Given the description of an element on the screen output the (x, y) to click on. 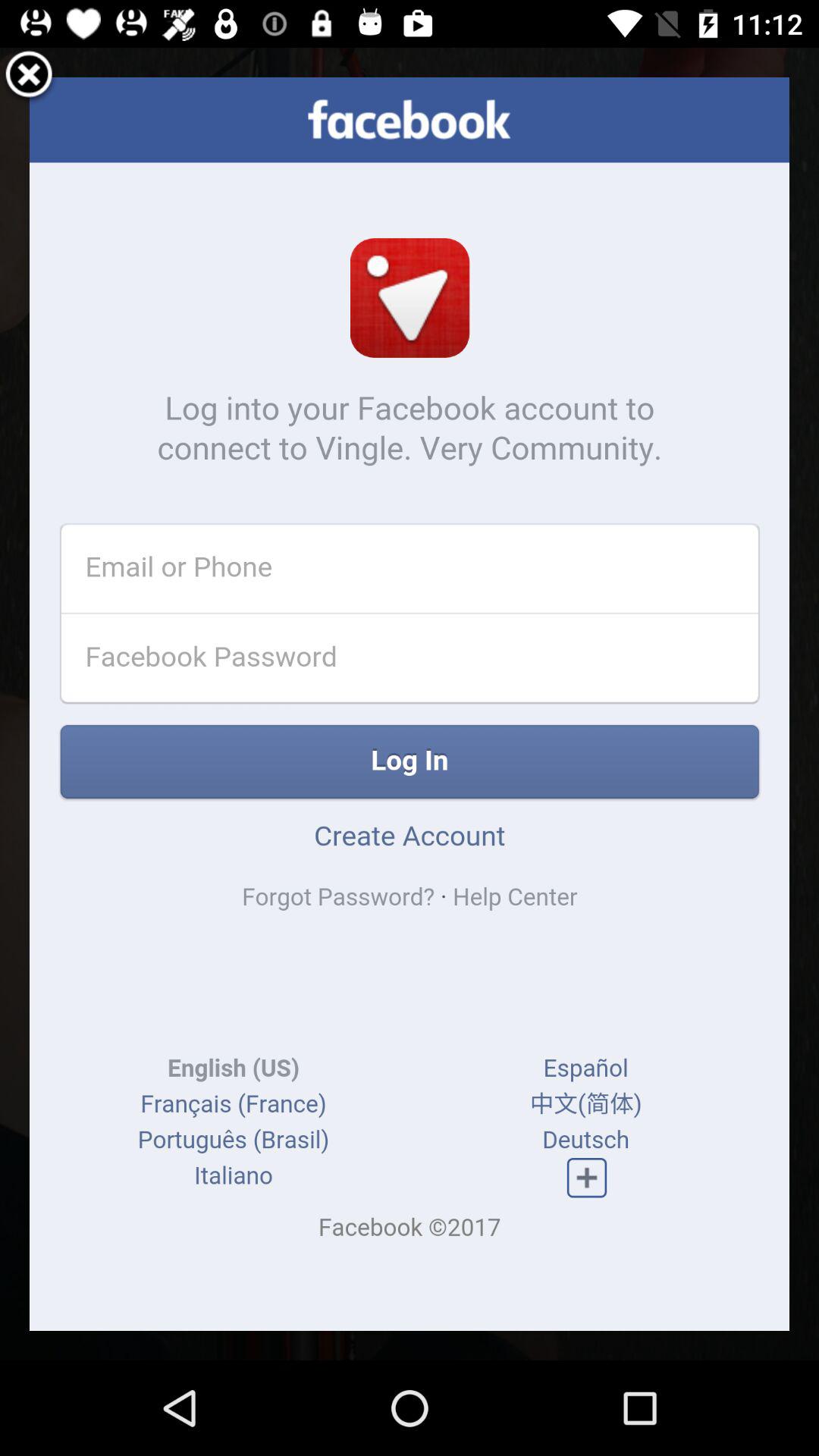
tap the icon at the top left corner (29, 76)
